Given the description of an element on the screen output the (x, y) to click on. 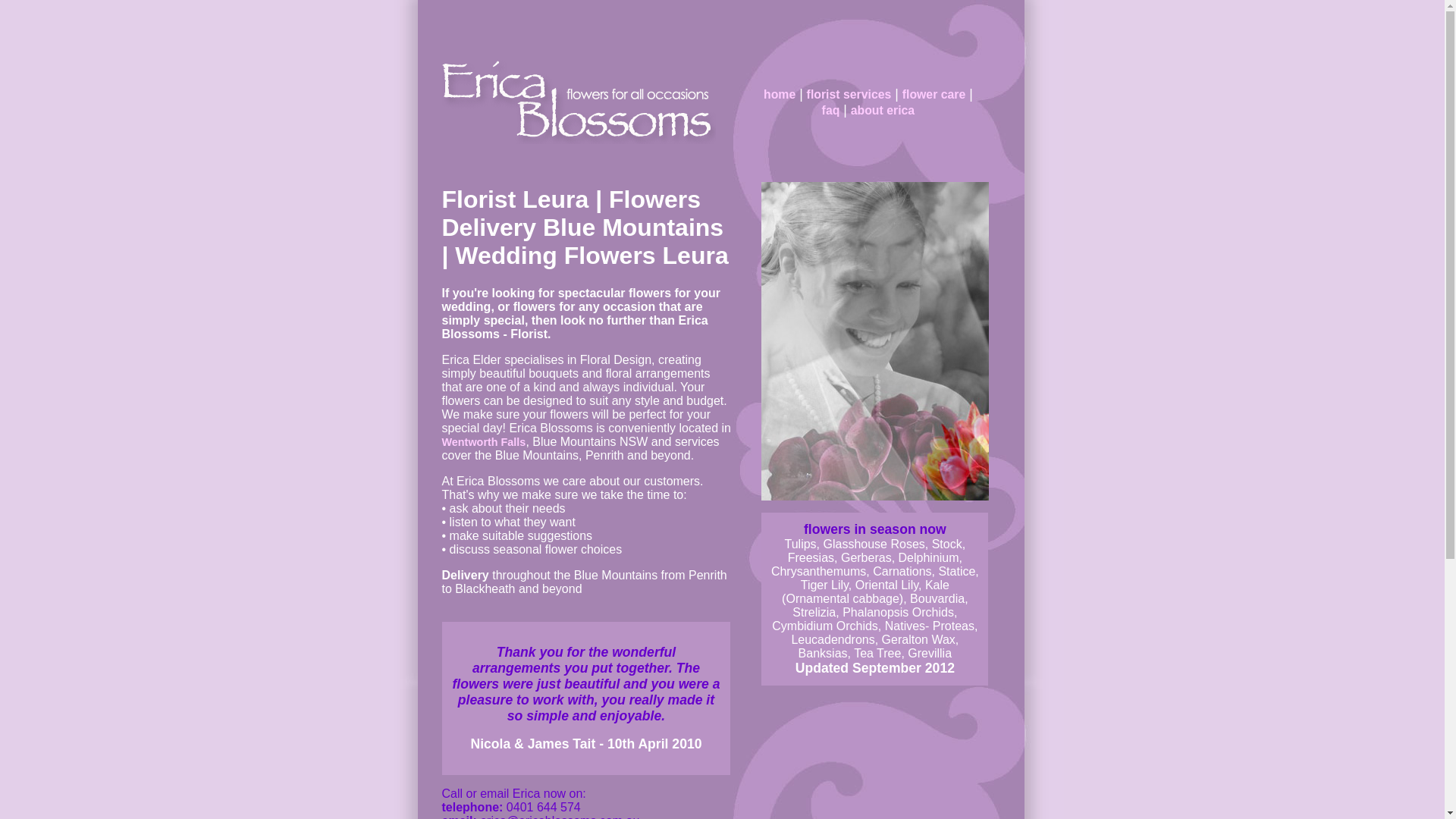
florist services Element type: text (848, 93)
about erica Element type: text (882, 109)
home Element type: text (779, 93)
flower care Element type: text (934, 93)
Wentworth Falls Element type: text (483, 442)
faq Element type: text (897, 117)
